Given the description of an element on the screen output the (x, y) to click on. 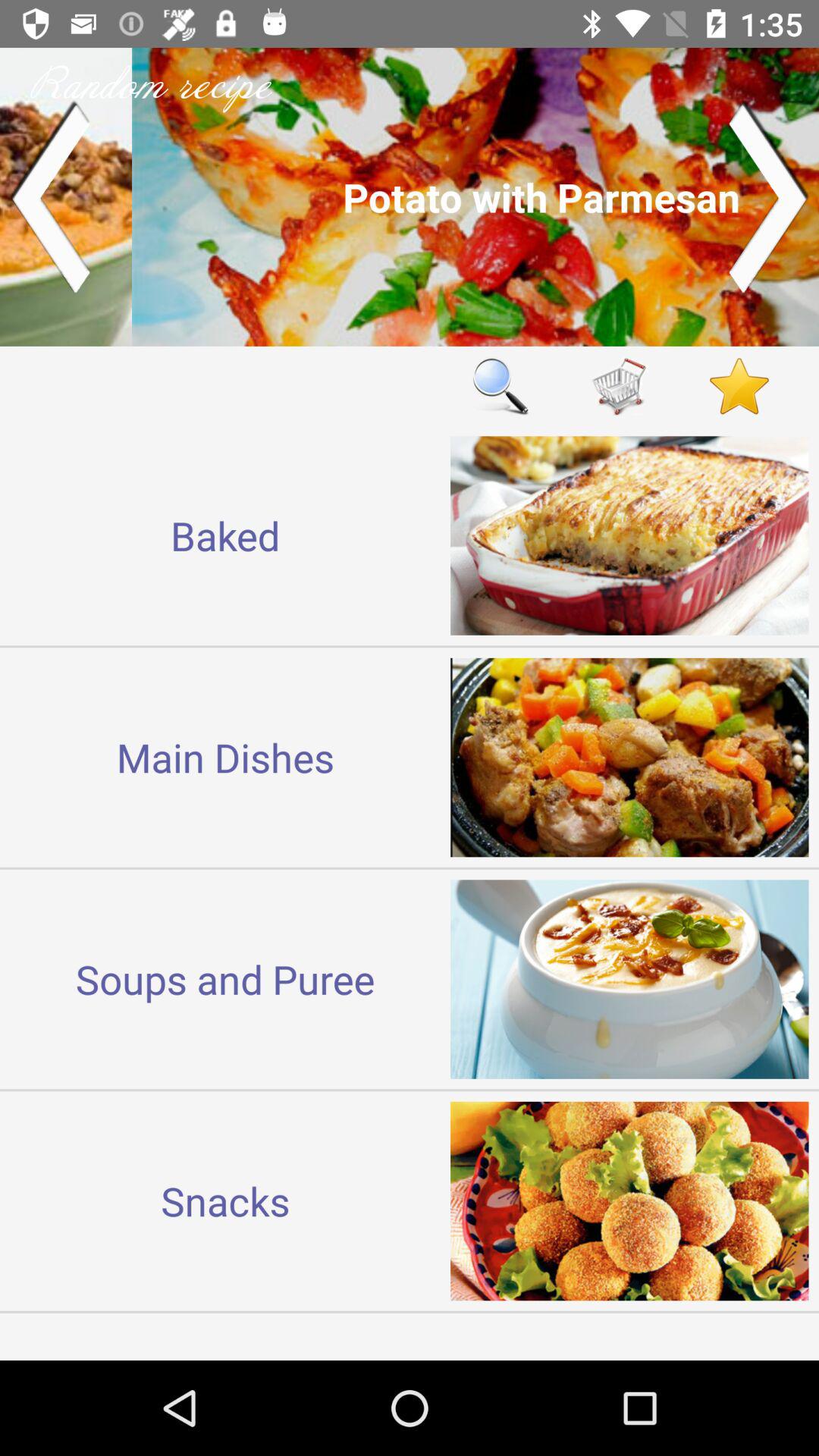
tap the soups and puree (225, 978)
